Given the description of an element on the screen output the (x, y) to click on. 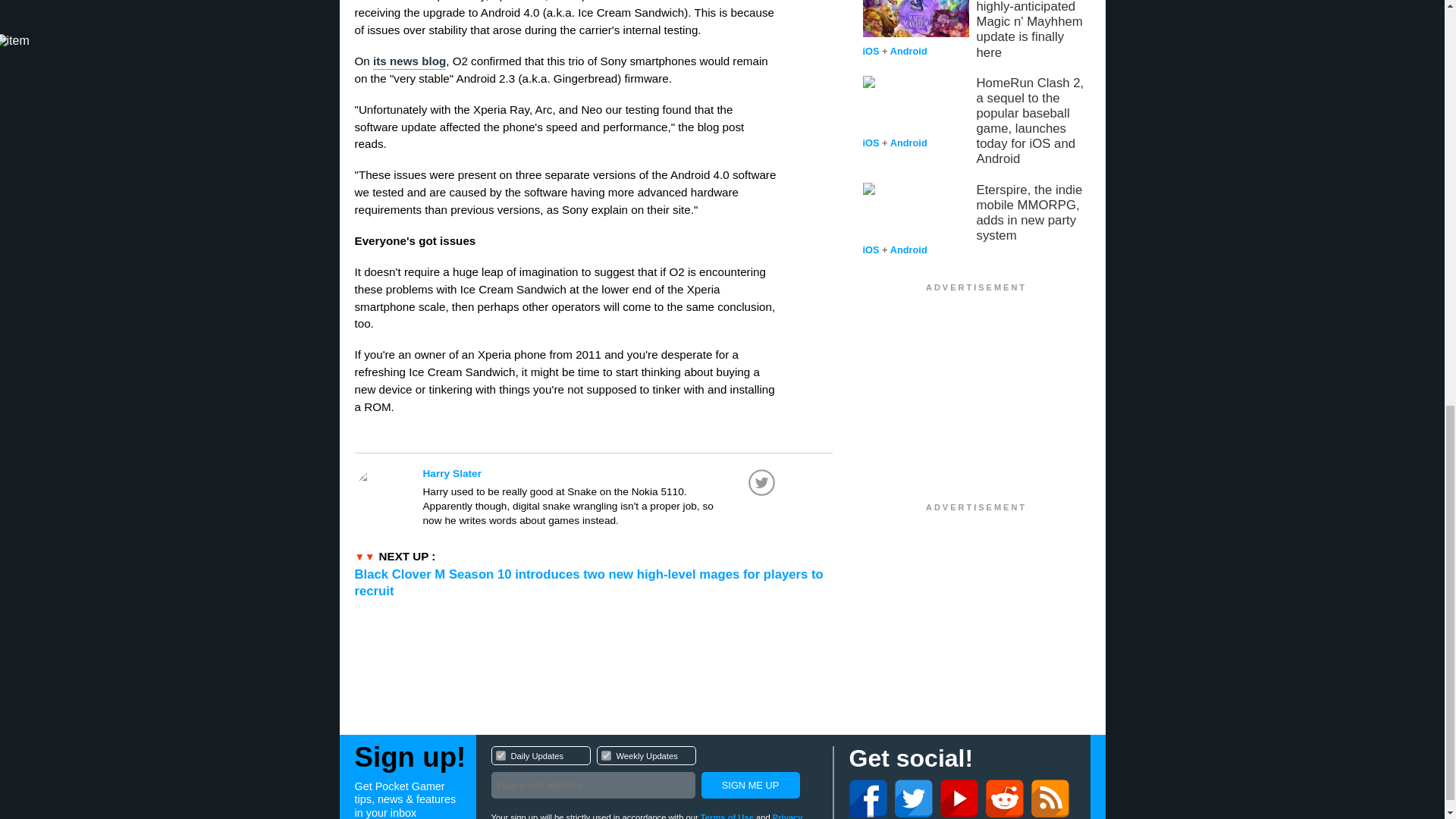
1 (500, 755)
Sign Me Up (749, 785)
2 (654, 773)
its news blog (604, 755)
Harry Slater (408, 61)
Sign Me Up (600, 473)
